Given the description of an element on the screen output the (x, y) to click on. 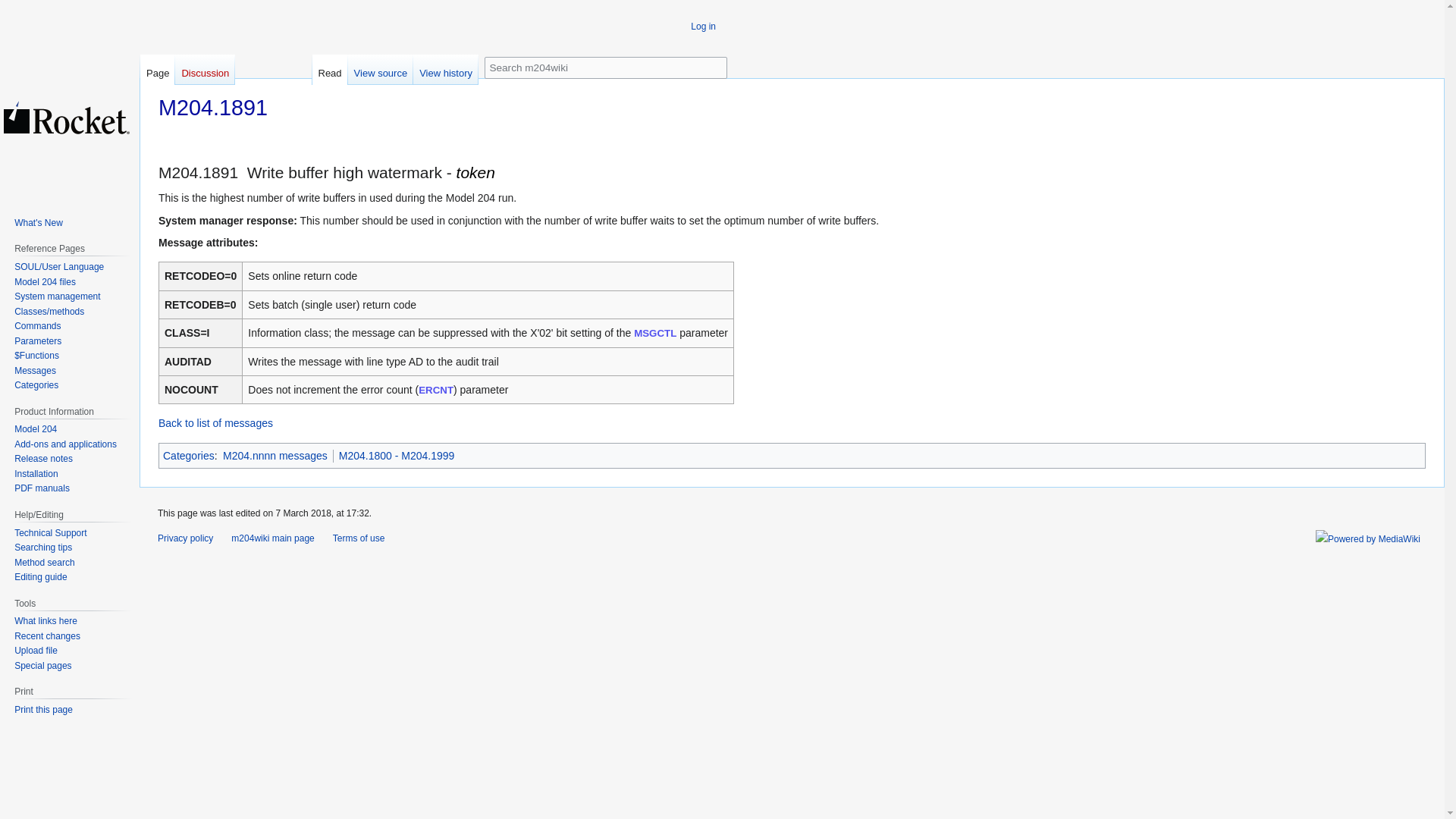
Discussion (204, 69)
Model 204 (35, 429)
Visit the main page (66, 117)
Parameters (37, 340)
View source (380, 69)
Search (715, 64)
What's New (38, 222)
Technical Support (49, 532)
Release notes (43, 458)
ERCNT (435, 389)
